Given the description of an element on the screen output the (x, y) to click on. 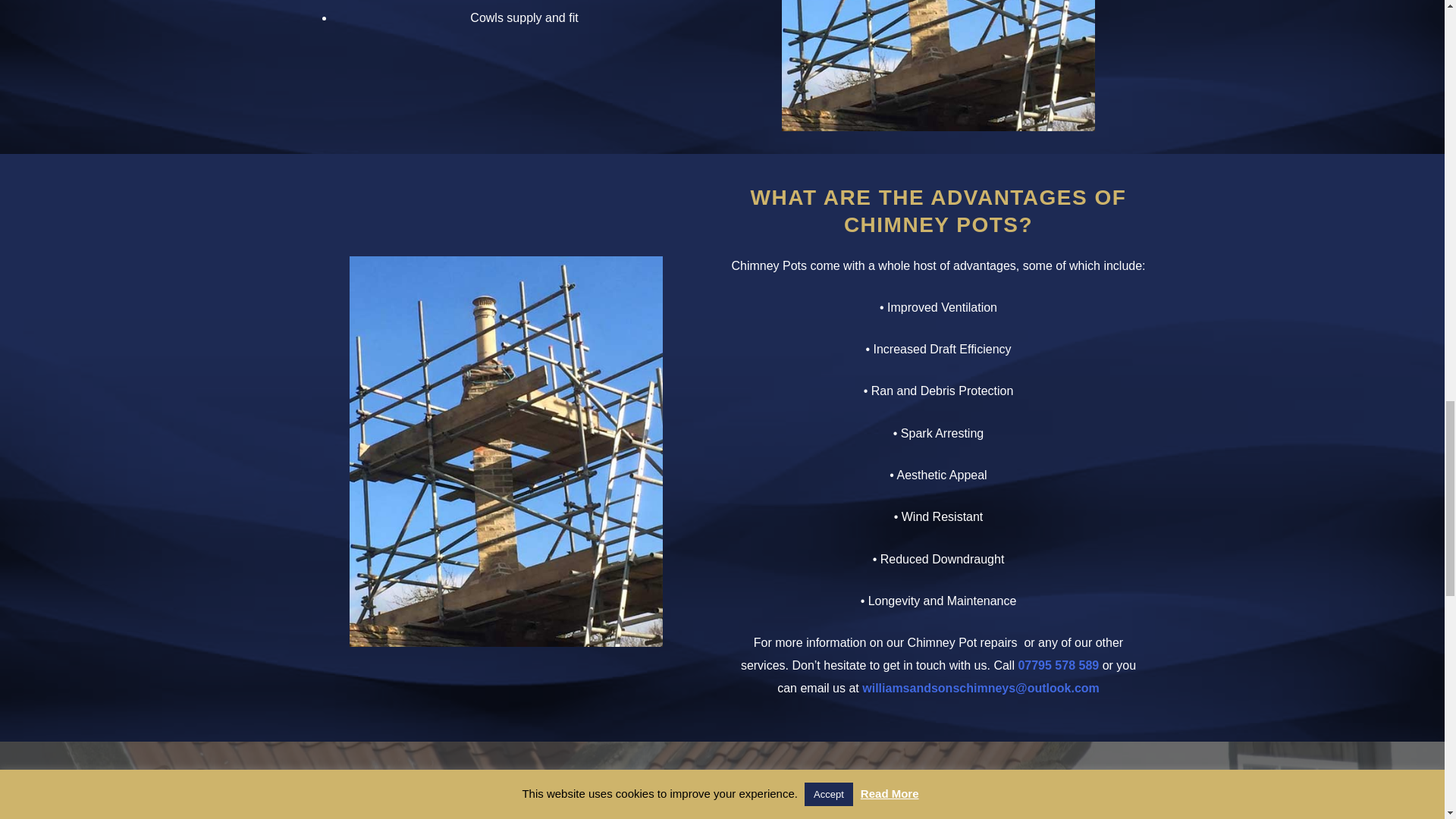
07795 578 589 (1058, 665)
